Given the description of an element on the screen output the (x, y) to click on. 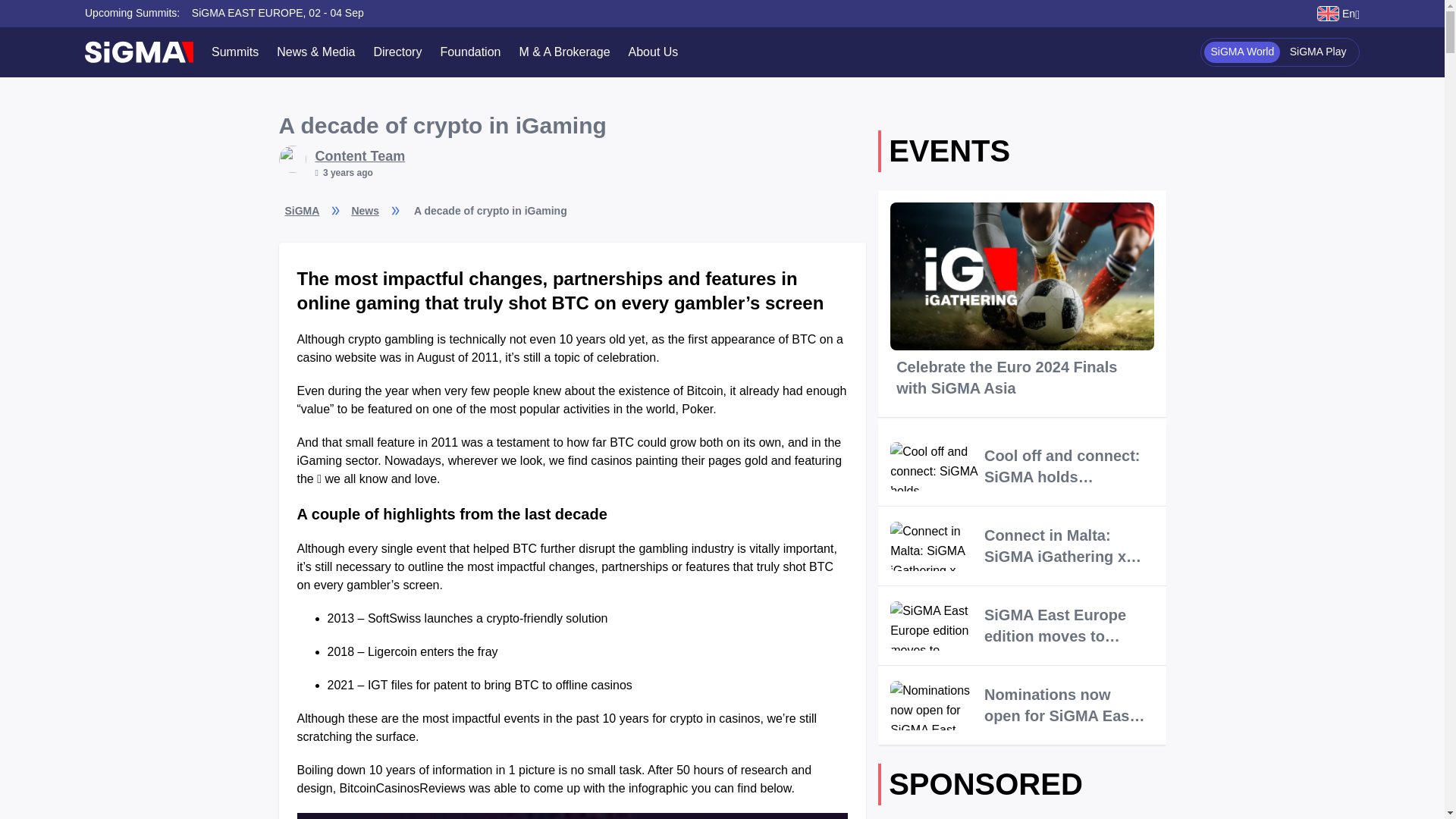
Upcoming Summits:    SiGMA EAST EUROPE, 02 - 04 Sep (224, 12)
